Given the description of an element on the screen output the (x, y) to click on. 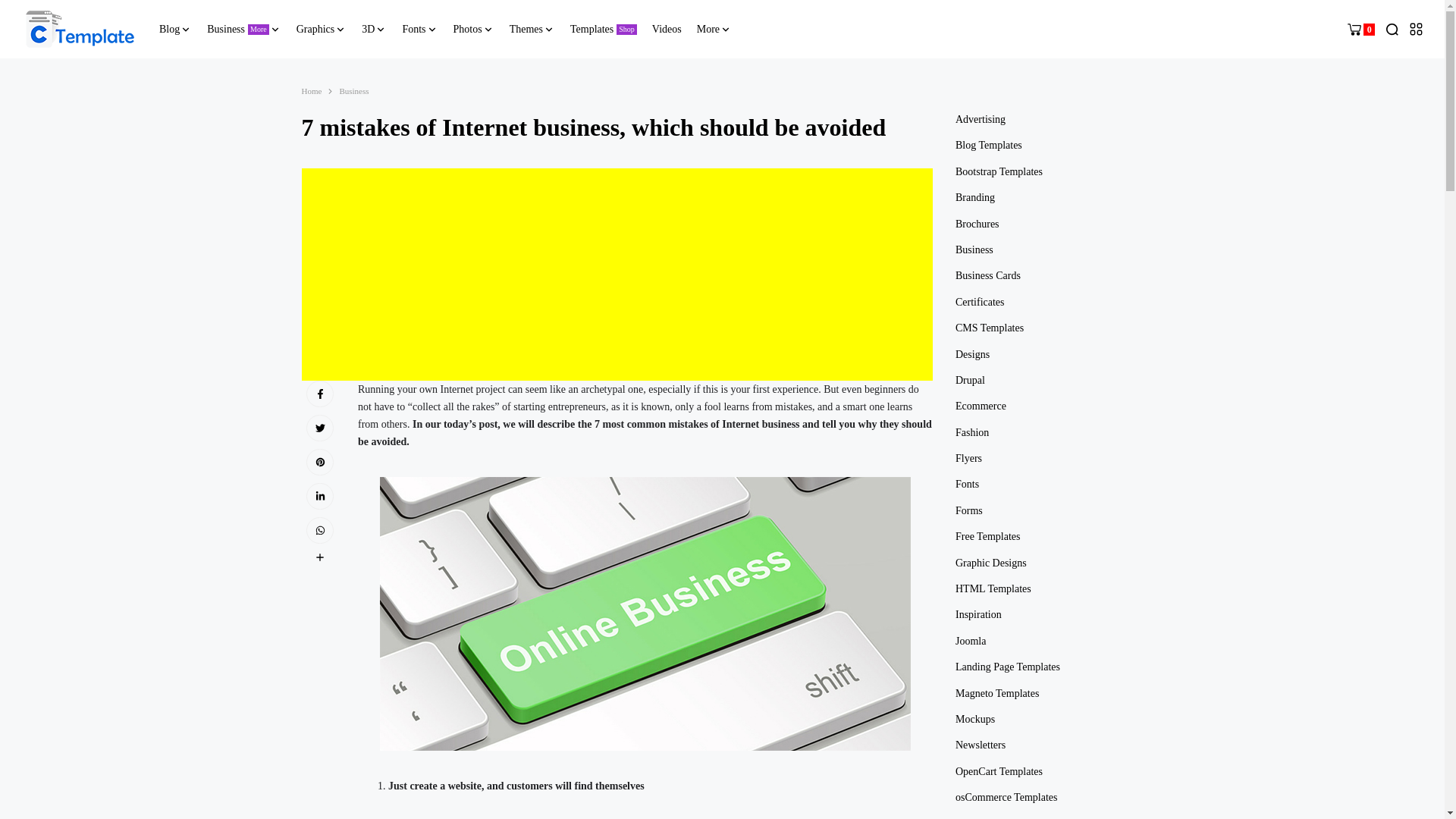
Blog (175, 29)
Cart (1360, 28)
Videos (243, 29)
CreativeTemplate (666, 29)
Advertisement (79, 28)
